Given the description of an element on the screen output the (x, y) to click on. 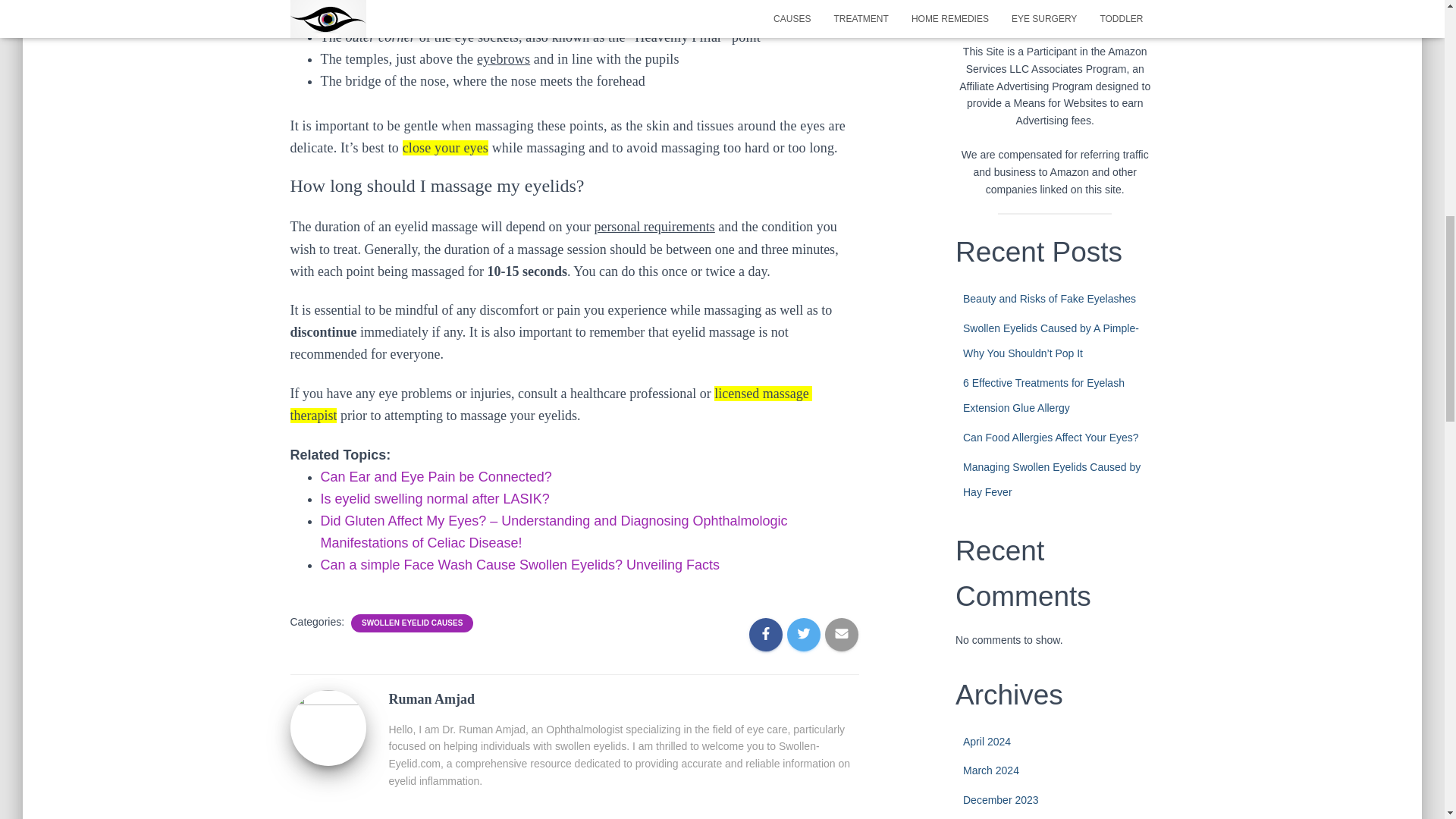
Ruman Amjad (327, 727)
Beauty and Risks of Fake Eyelashes (1048, 298)
April 2024 (986, 741)
Is eyelid swelling normal after LASIK? (434, 498)
Managing Swollen Eyelids Caused by Hay Fever (1051, 479)
6 Effective Treatments for Eyelash Extension Glue Allergy (1043, 395)
SWOLLEN EYELID CAUSES (411, 623)
March 2024 (990, 770)
Can Ear and Eye Pain be Connected? (435, 476)
